Given the description of an element on the screen output the (x, y) to click on. 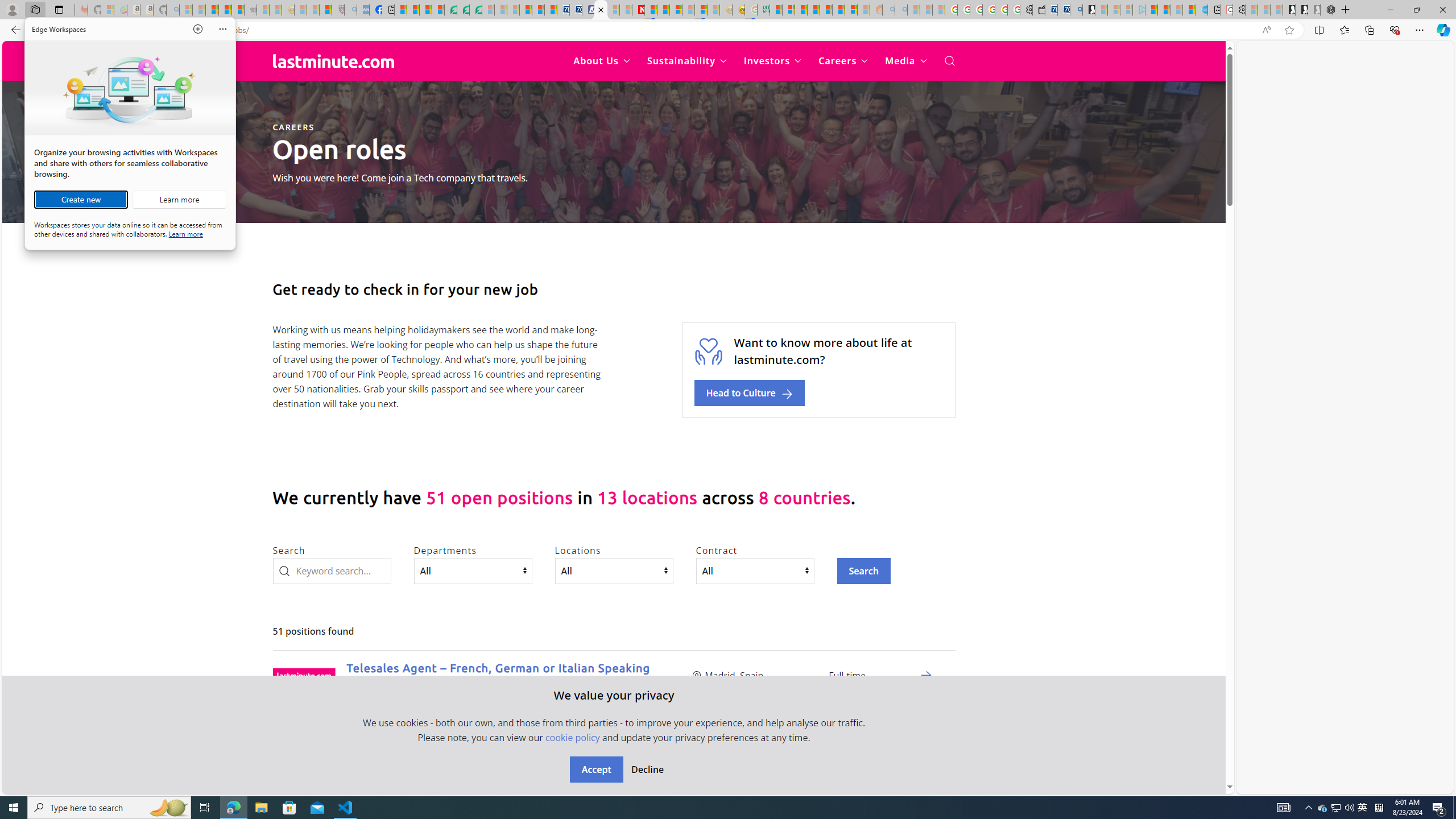
Investors (773, 60)
About Us (601, 60)
Media (906, 60)
Class: uk-svg (333, 60)
Kinda Frugal - MSN (838, 9)
Jobs - lastminute.com Investor Portal (600, 9)
